Given the description of an element on the screen output the (x, y) to click on. 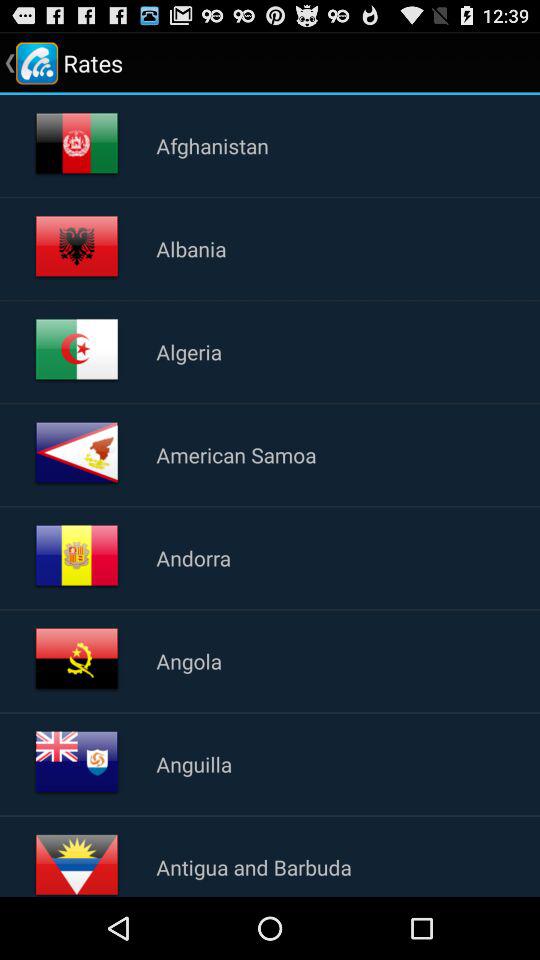
turn on icon above the albania icon (212, 145)
